Given the description of an element on the screen output the (x, y) to click on. 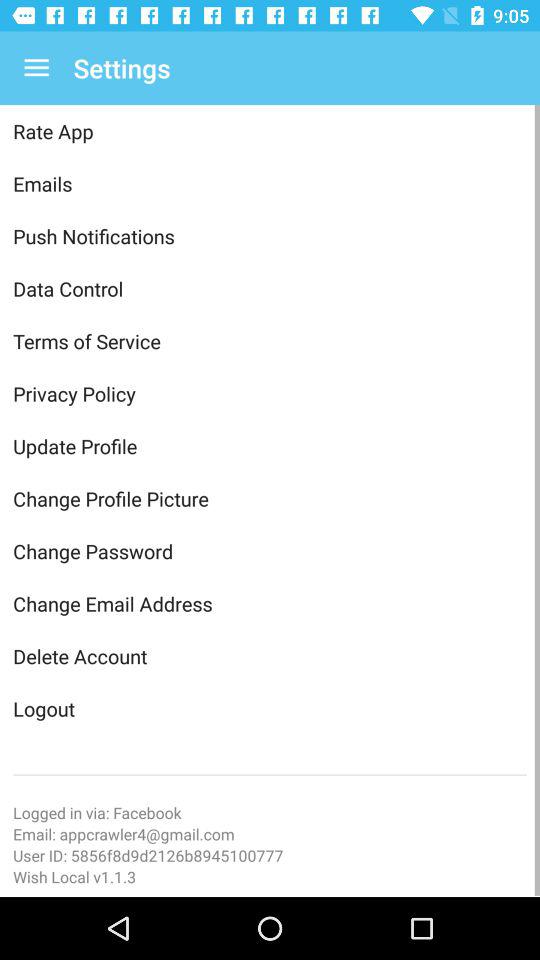
open push notifications (269, 236)
